Given the description of an element on the screen output the (x, y) to click on. 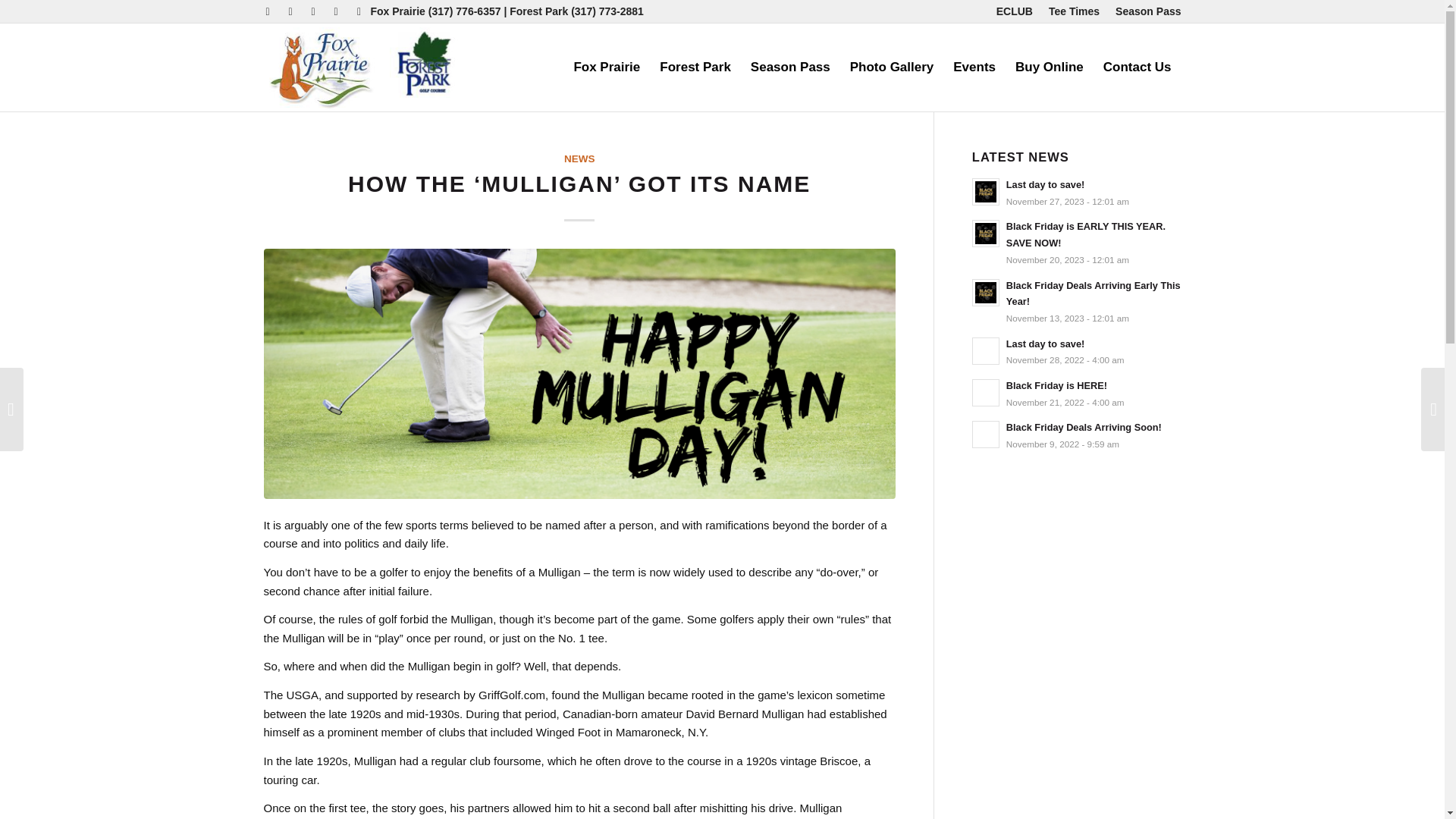
Mail (335, 11)
Season Pass (1147, 11)
Tee Times (1073, 11)
Photo Gallery (891, 67)
Buy Online (1049, 67)
Facebook (290, 11)
Twitter (312, 11)
Forest Park (695, 67)
Fox Prairie (606, 67)
